Given the description of an element on the screen output the (x, y) to click on. 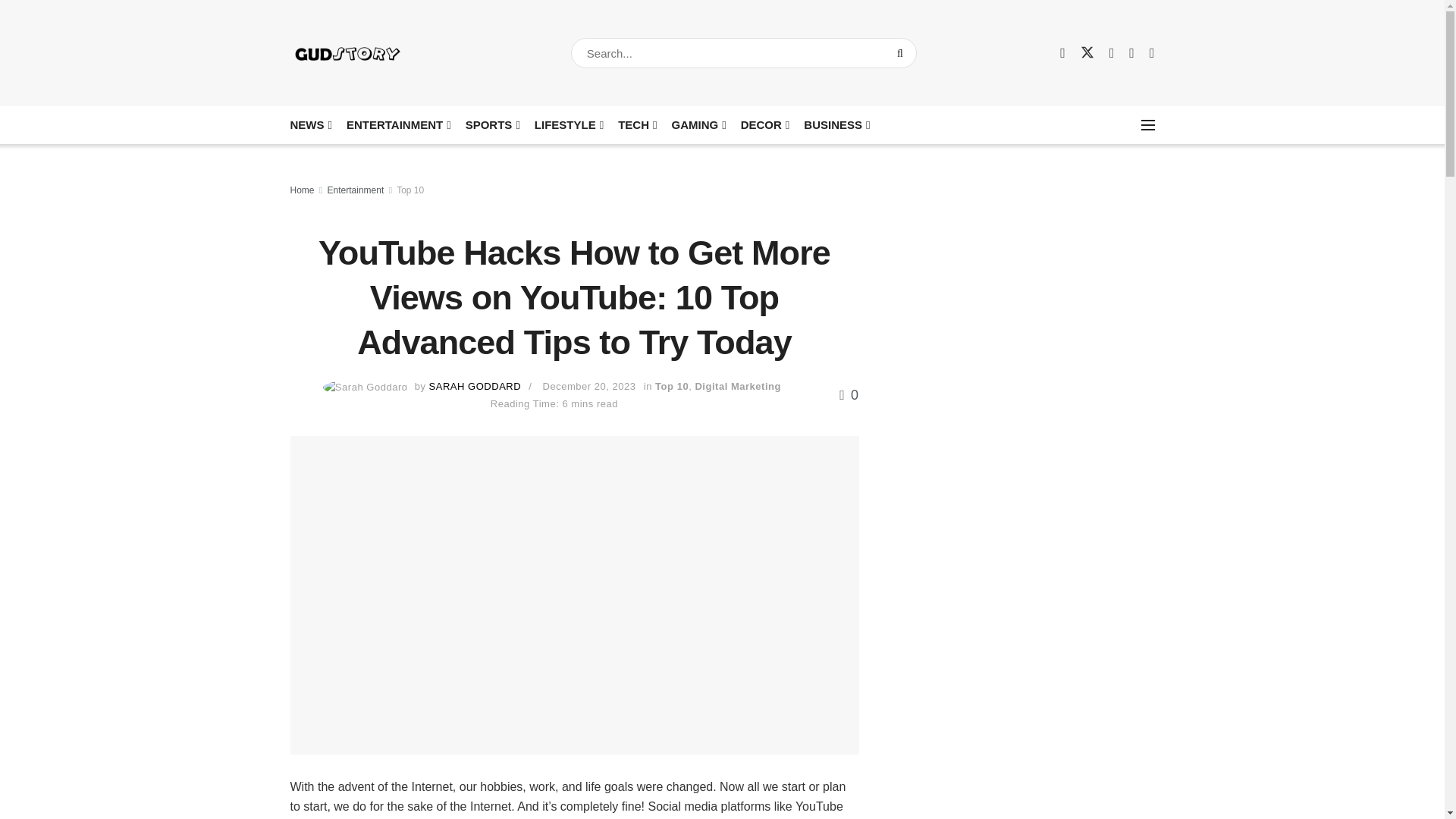
NEWS (309, 124)
ENTERTAINMENT (397, 124)
